Given the description of an element on the screen output the (x, y) to click on. 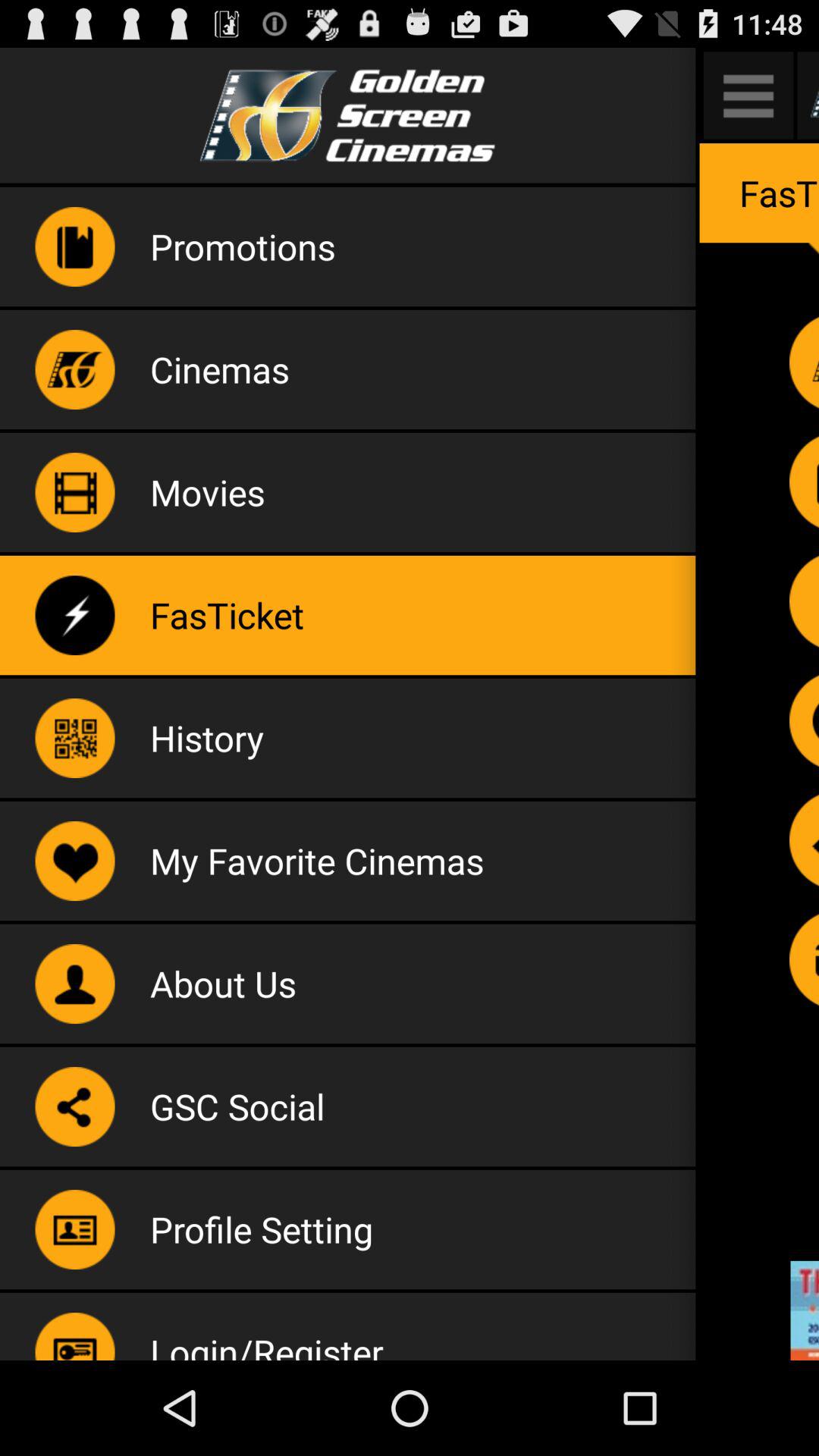
advertisement (804, 1310)
